Given the description of an element on the screen output the (x, y) to click on. 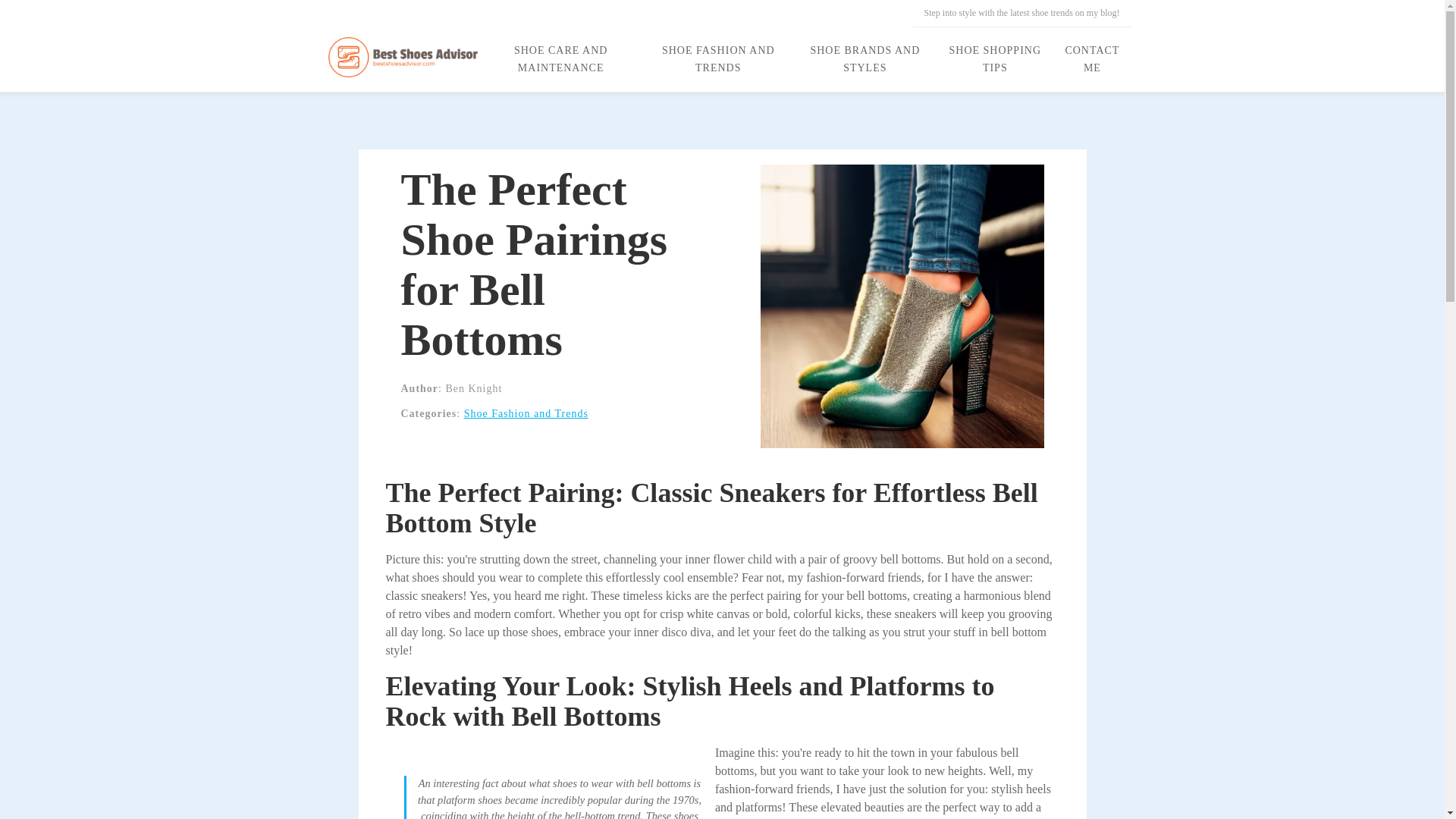
SHOE FASHION AND TRENDS (717, 59)
SHOE SHOPPING TIPS (994, 59)
CONTACT ME (1091, 59)
Shoe Fashion and Trends (526, 413)
SHOE CARE AND MAINTENANCE (560, 59)
SHOE BRANDS AND STYLES (864, 59)
